Given the description of an element on the screen output the (x, y) to click on. 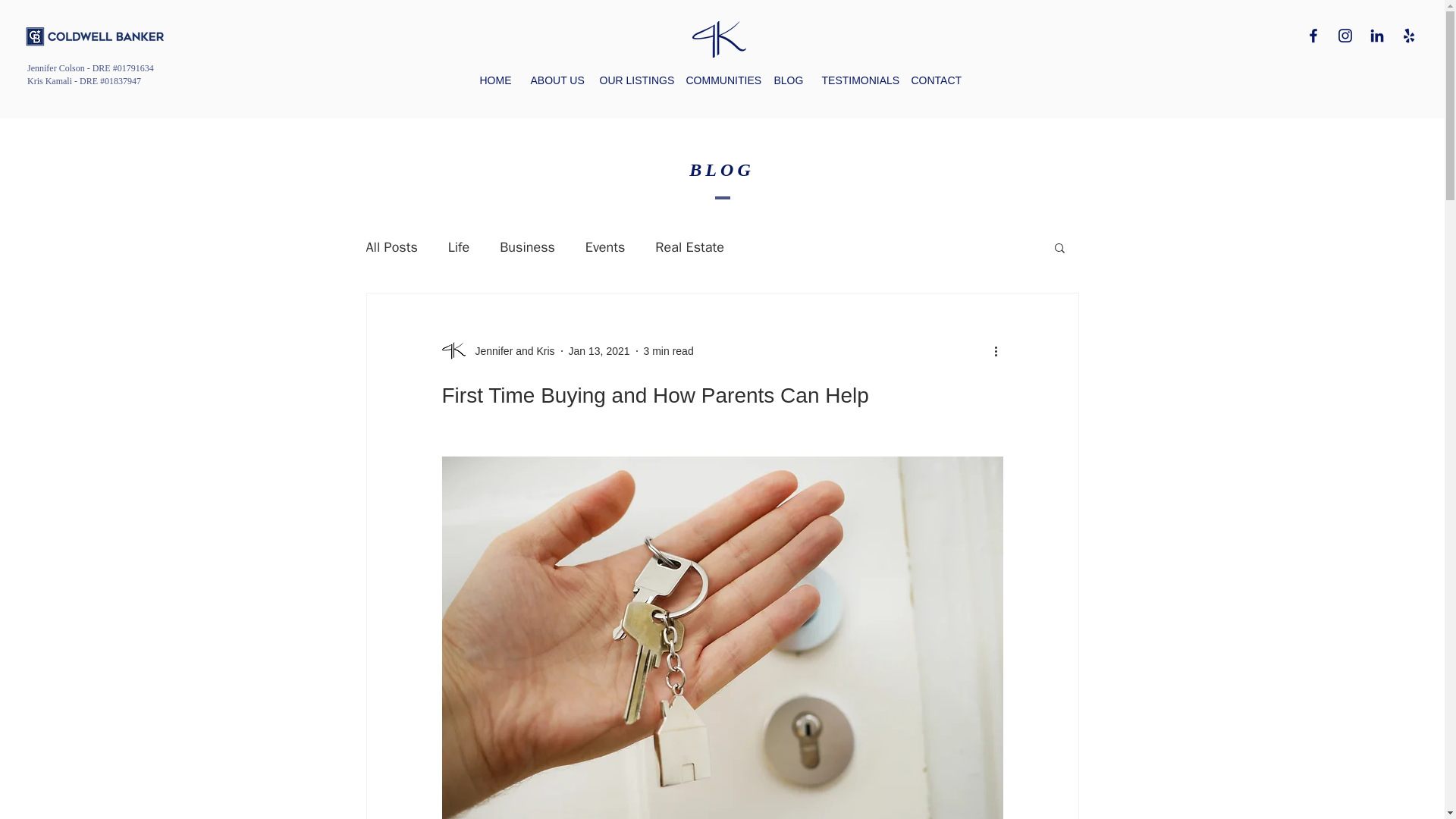
3 min read (668, 349)
BLOG (786, 79)
Events (605, 247)
TESTIMONIALS (854, 79)
Jennifer and Kris (509, 350)
Life (458, 247)
CONTACT (930, 79)
Jan 13, 2021 (599, 349)
ABOUT US (553, 79)
Business (526, 247)
